Given the description of an element on the screen output the (x, y) to click on. 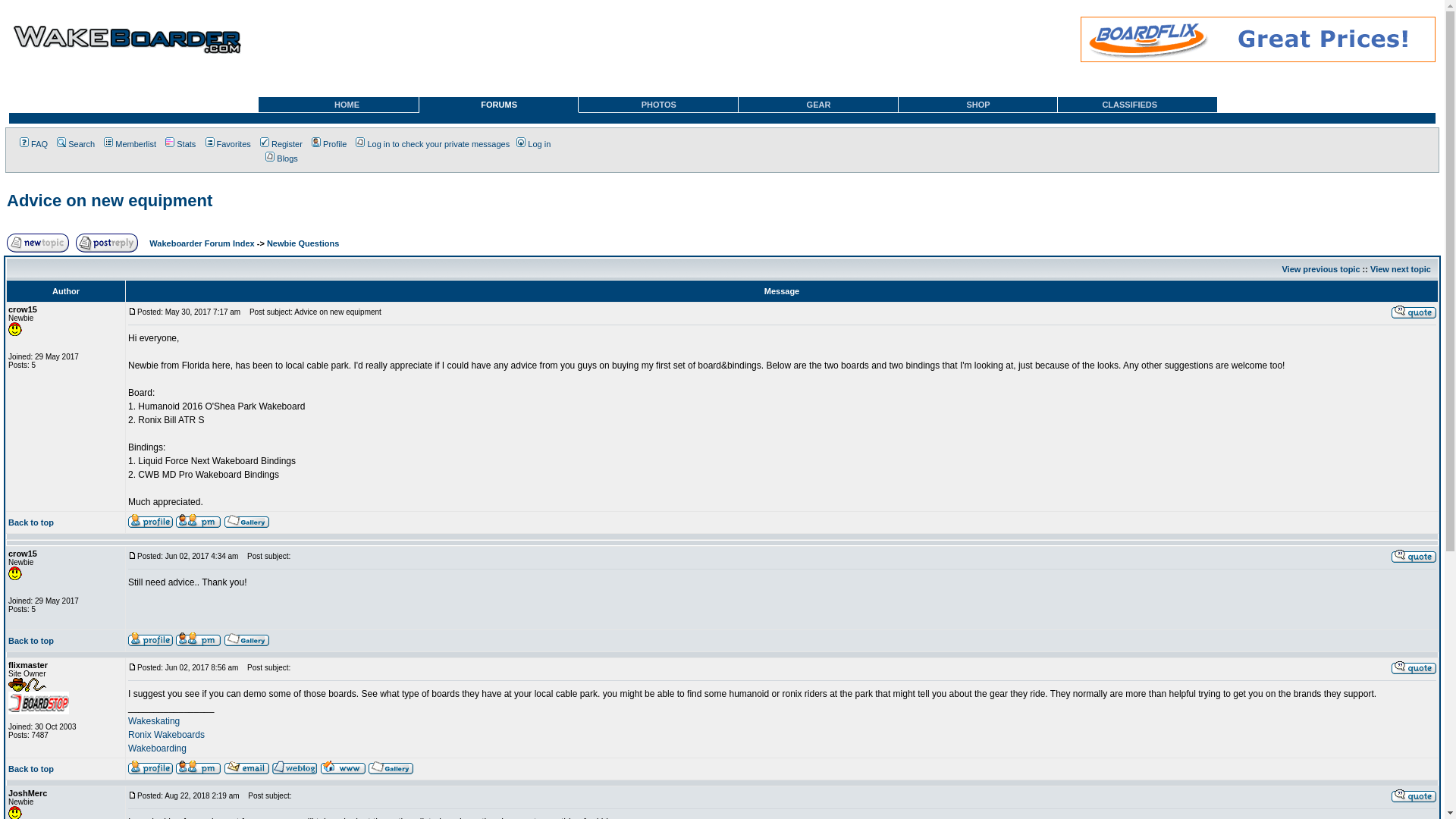
FAQ (32, 143)
Back to top (30, 522)
Back to top (30, 640)
CLASSIFIEDS (1137, 104)
GEAR (818, 104)
Stats (179, 143)
FORUMS (499, 105)
Search (74, 143)
Memberlist (128, 143)
Favorites (226, 143)
Profile (327, 143)
crow15 (22, 552)
HOME (339, 104)
View next topic (1400, 268)
SHOP (978, 104)
